Given the description of an element on the screen output the (x, y) to click on. 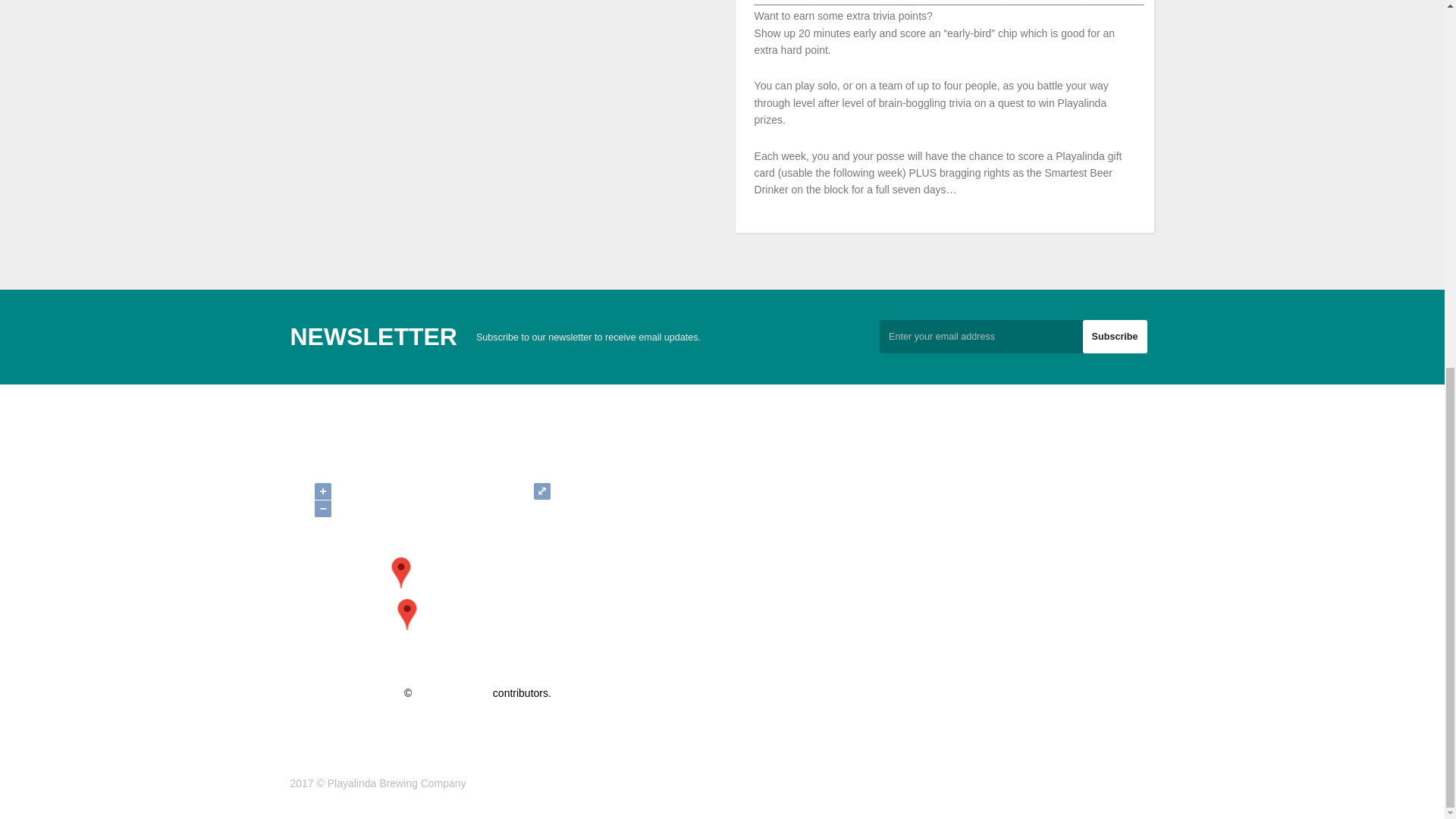
Zoom out (322, 508)
Toggle full-screen (542, 491)
Subscribe (1115, 336)
Zoom in (322, 491)
